Given the description of an element on the screen output the (x, y) to click on. 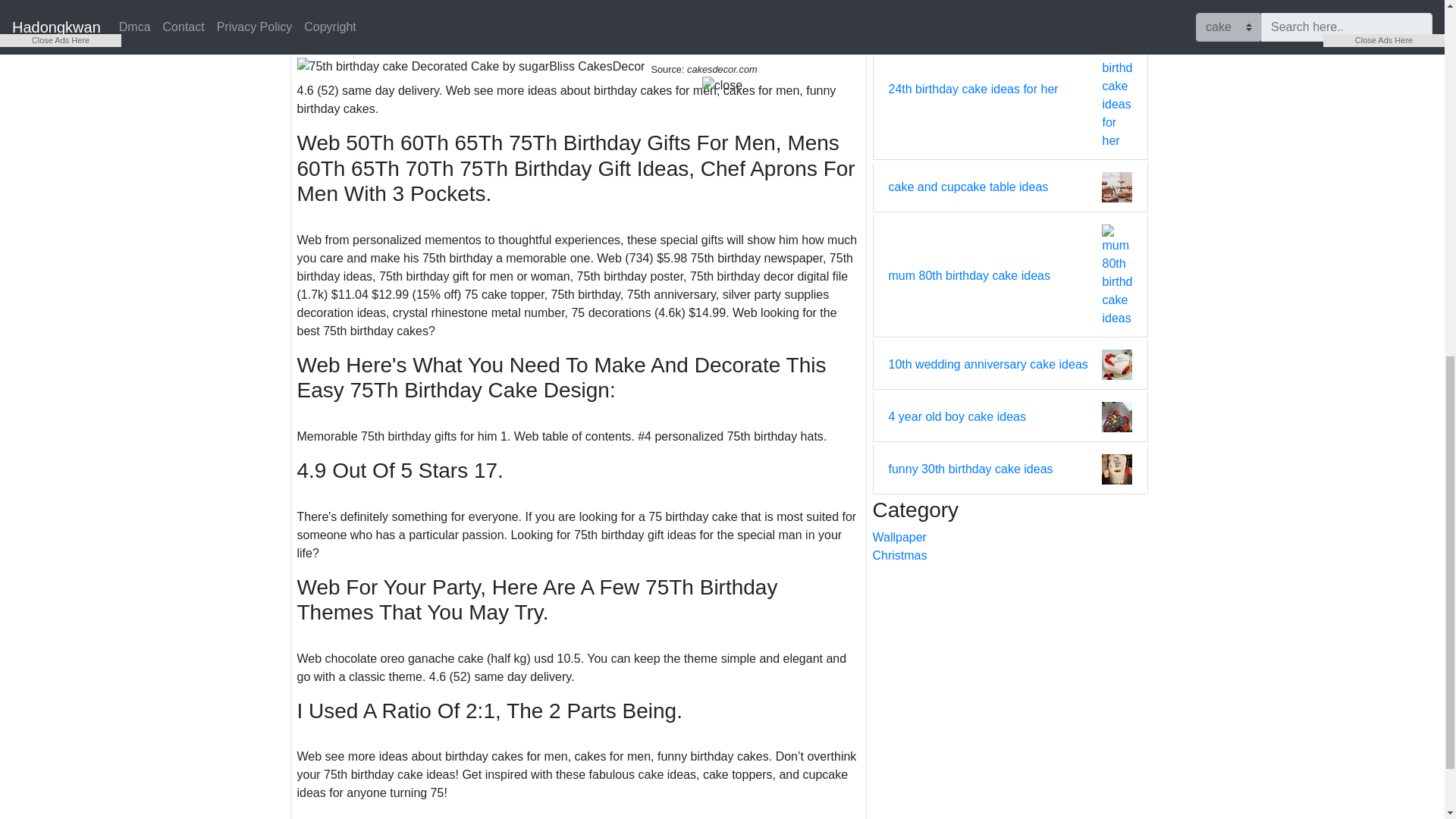
Christmas (1010, 556)
4 year old boy cake ideas (957, 416)
24th birthday cake ideas for her (973, 89)
10th wedding anniversary cake ideas (987, 364)
cake and cupcake table ideas (968, 187)
Wallpaper (1010, 537)
mum 80th birthday cake ideas (968, 275)
funny 30th birthday cake ideas (970, 469)
